Given the description of an element on the screen output the (x, y) to click on. 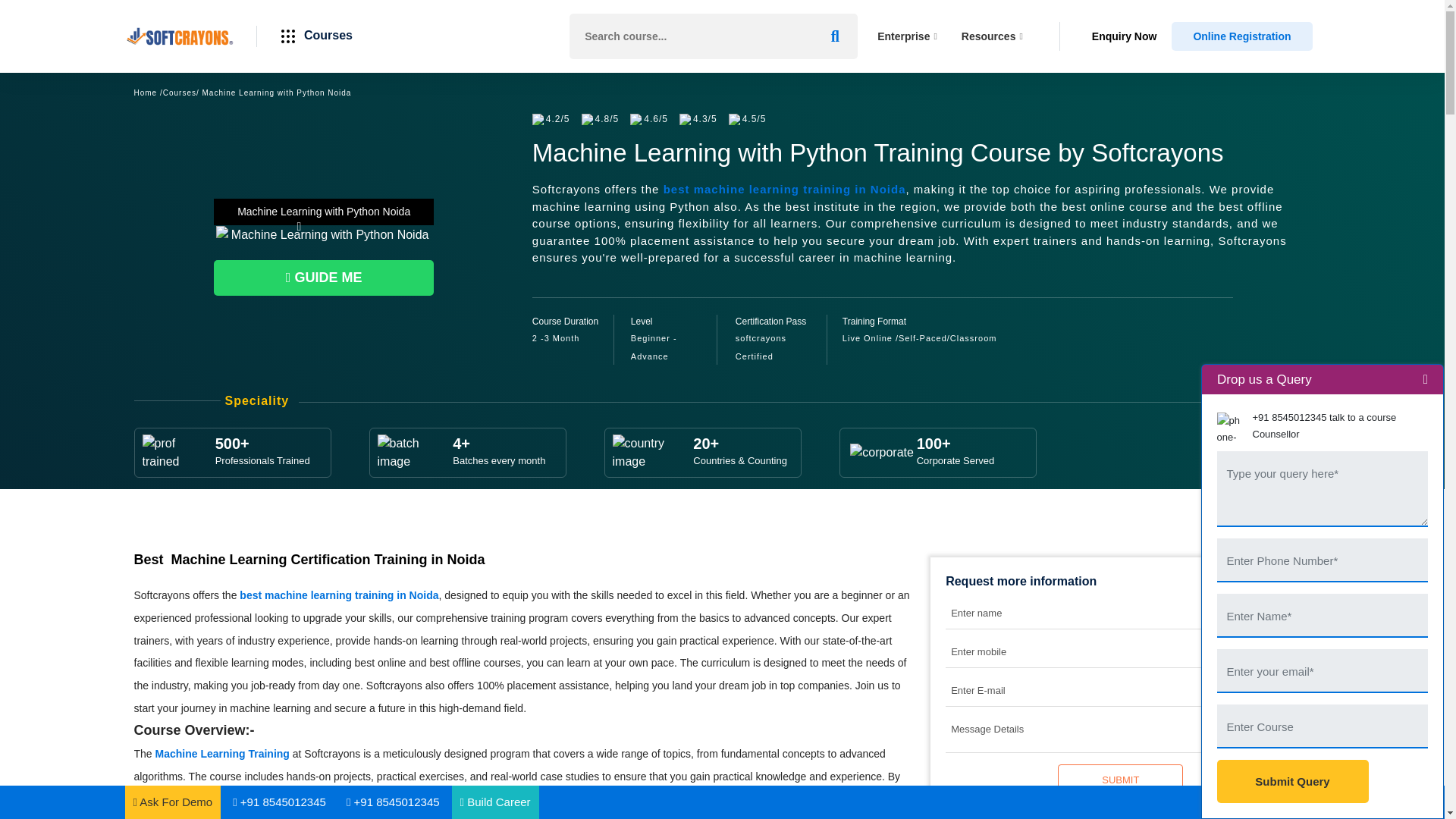
Resources (992, 36)
Enterprise (906, 36)
when button disabled then please enter value (1120, 779)
Online Registration (1241, 36)
Enter Name (1321, 614)
Enter Phone Number (1321, 560)
Enter Message (1321, 488)
Enter Course (1321, 725)
Enquiry Now (1124, 36)
Enter Email (1321, 670)
